Given the description of an element on the screen output the (x, y) to click on. 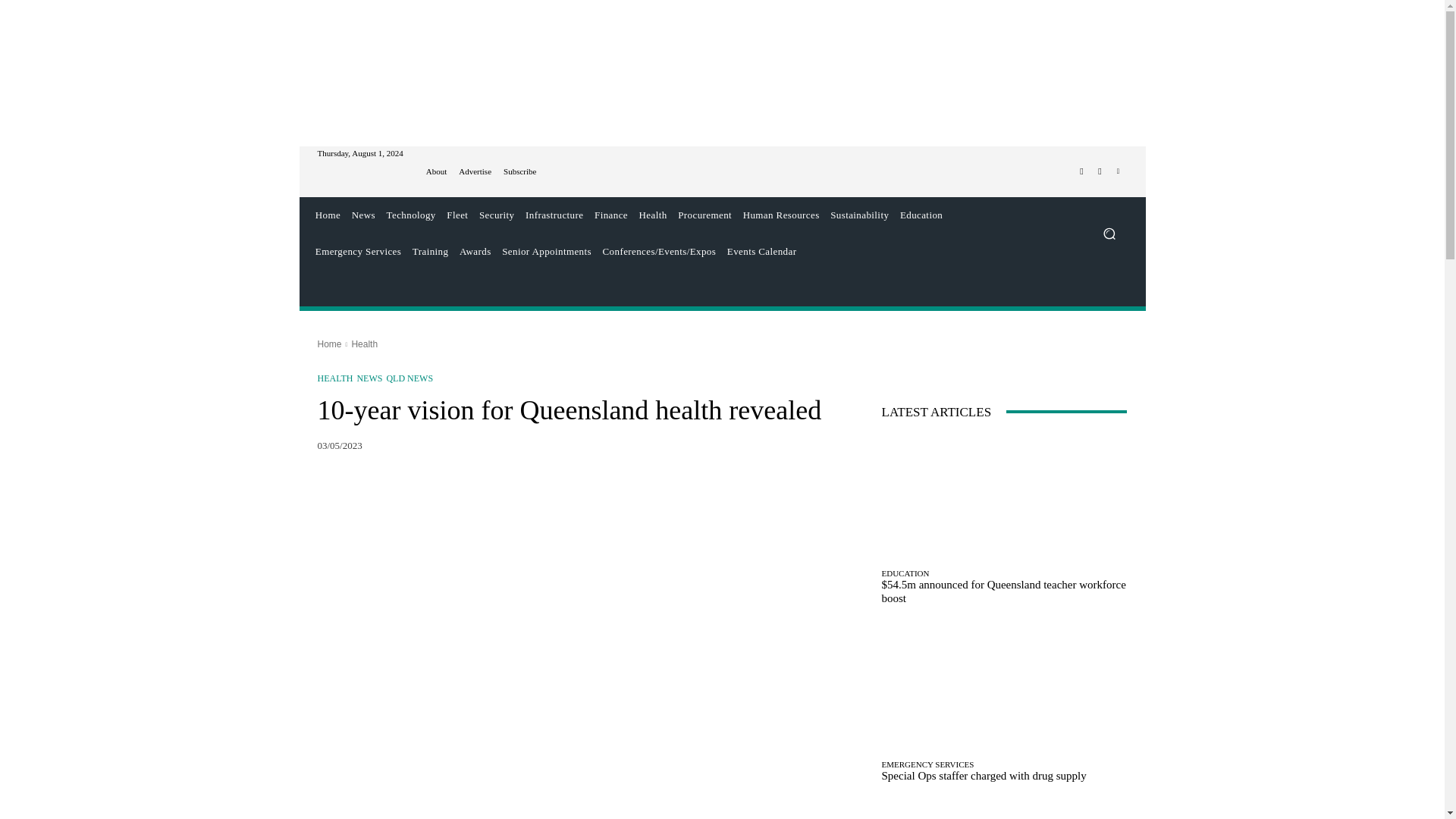
Facebook (1080, 171)
Advertise (475, 171)
About (436, 171)
Linkedin (1117, 171)
News (363, 215)
Home (327, 215)
Subscribe (519, 171)
View all posts in Health (363, 344)
Twitter (1099, 171)
